Given the description of an element on the screen output the (x, y) to click on. 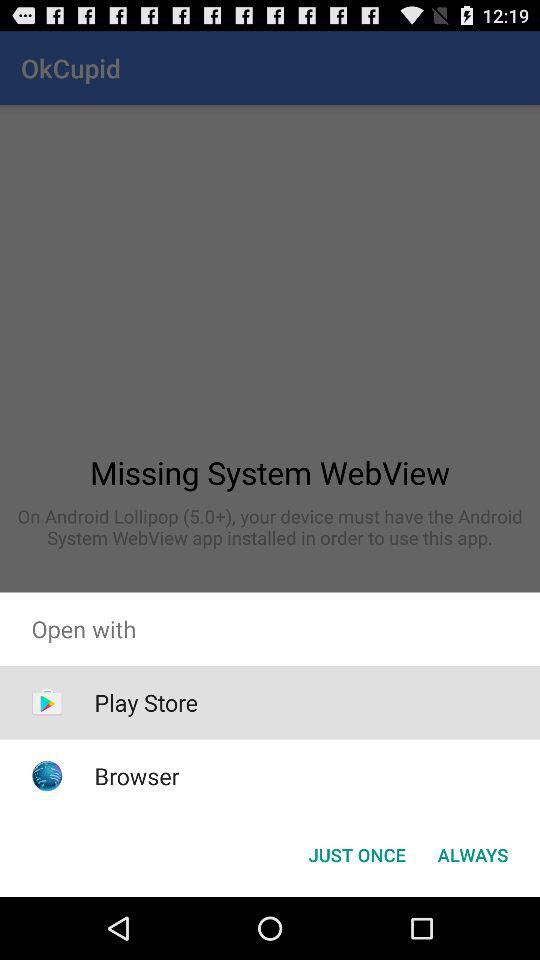
scroll until the browser (136, 775)
